Given the description of an element on the screen output the (x, y) to click on. 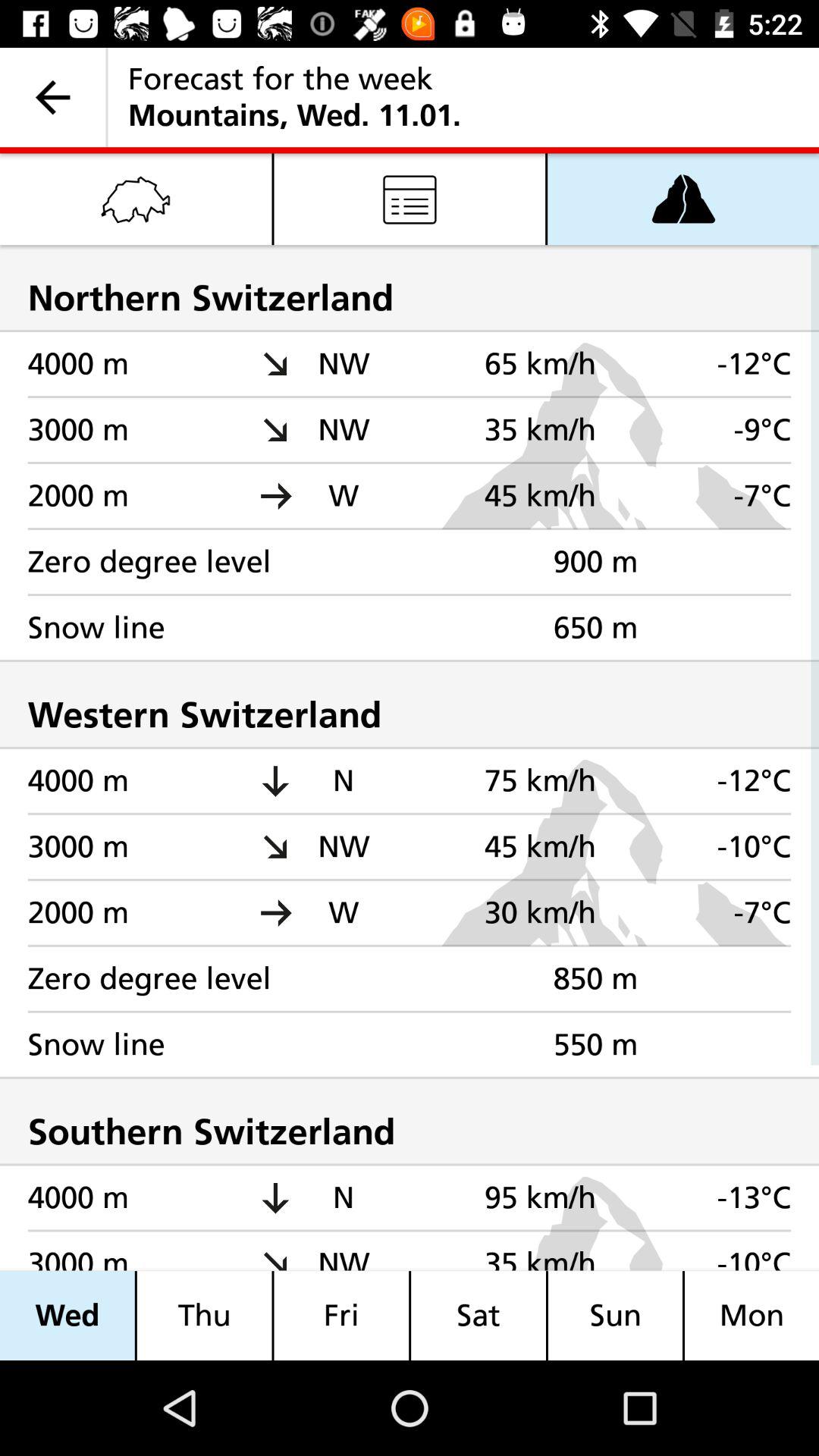
open the item to the left of sat icon (341, 1315)
